Given the description of an element on the screen output the (x, y) to click on. 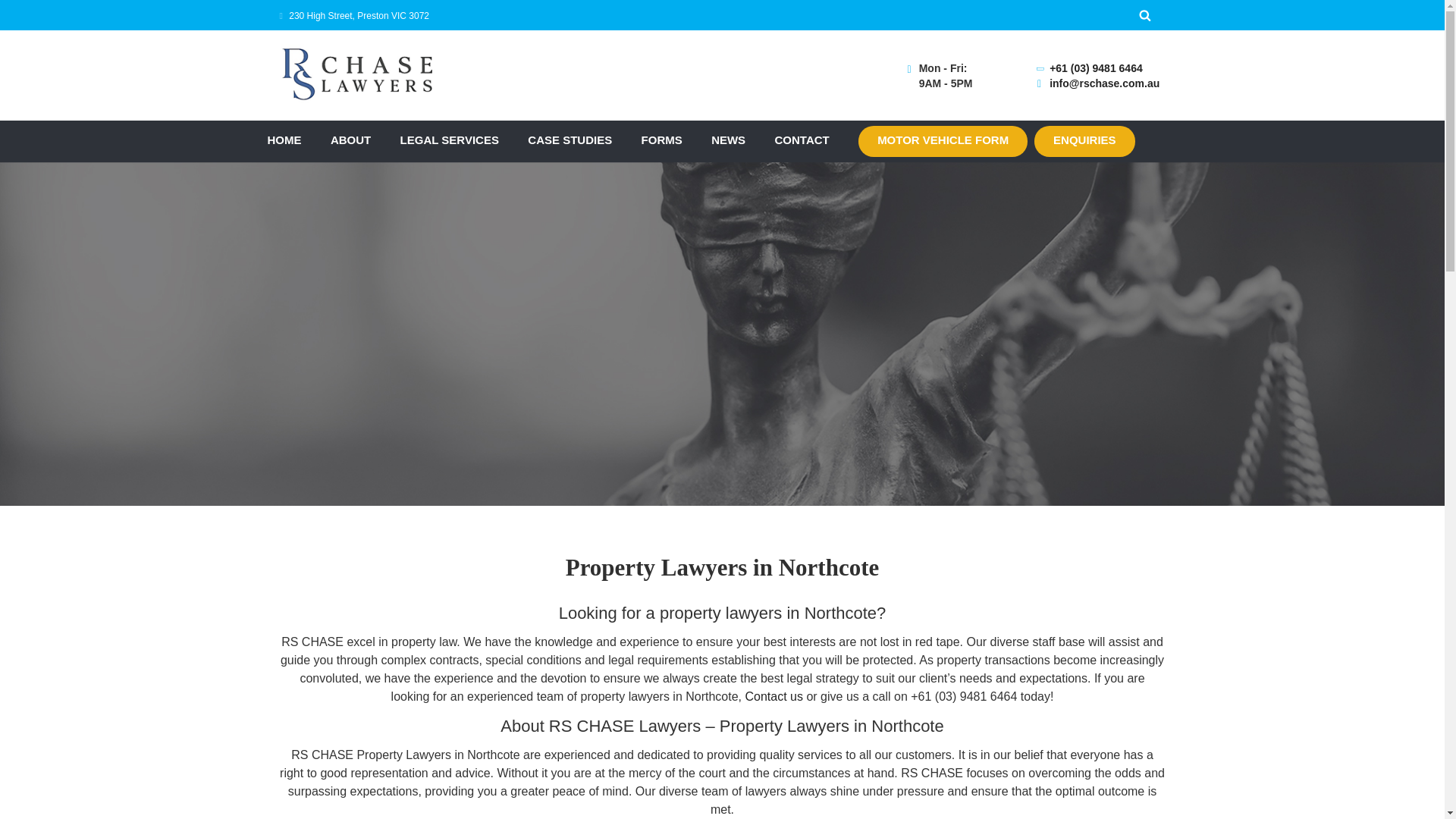
FORMS (662, 141)
Contact us (773, 696)
ABOUT (350, 141)
LEGAL SERVICES (449, 141)
CONTACT (801, 141)
CASE STUDIES (569, 141)
MOTOR VEHICLE FORM (943, 141)
ENQUIRIES (1084, 141)
